Given the description of an element on the screen output the (x, y) to click on. 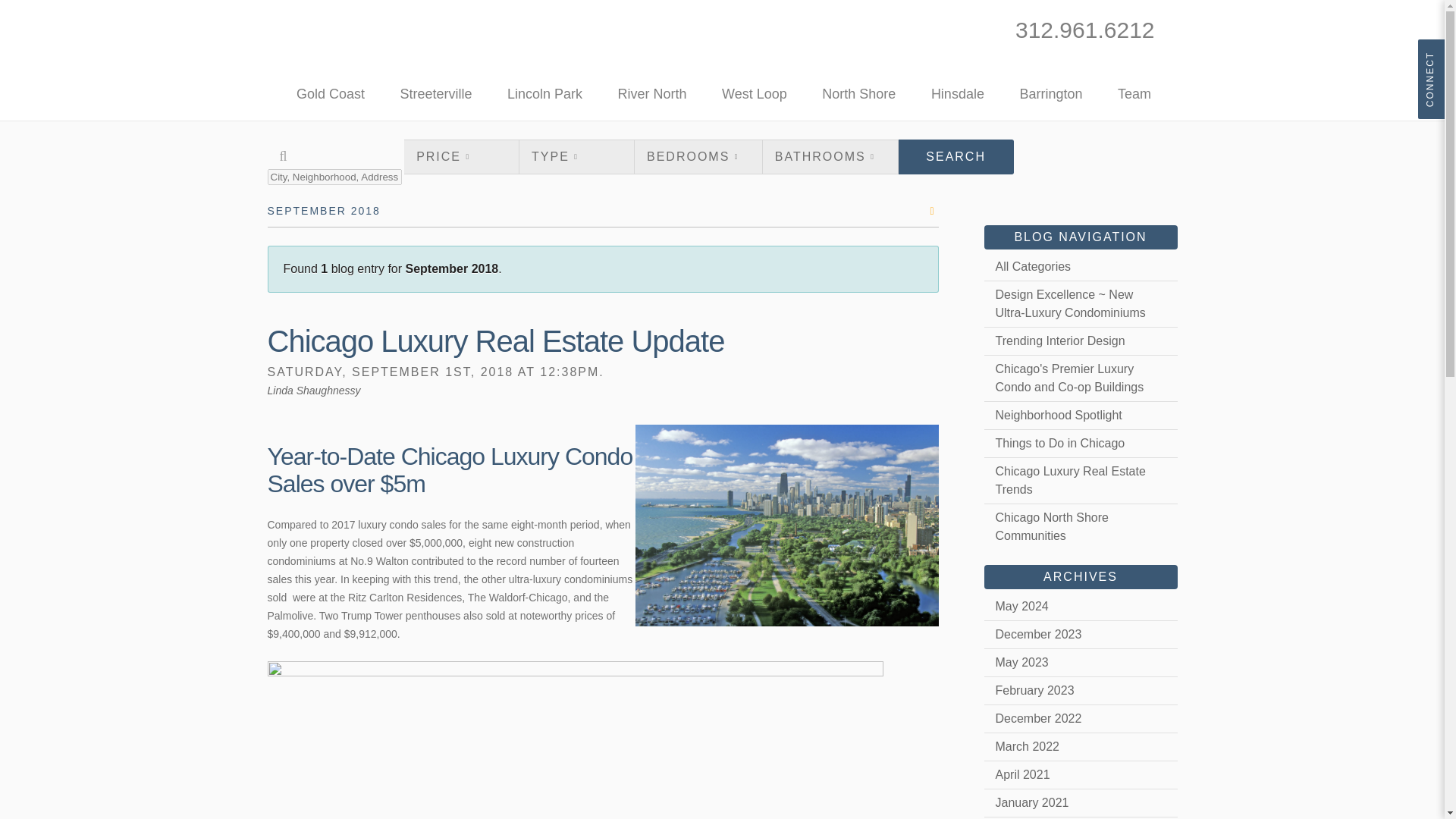
Streeterville (435, 93)
All Categories (1080, 266)
March 2022 (1080, 746)
312.961.6212 (1084, 29)
North Shore (858, 93)
Things to Do in Chicago (1080, 443)
Gold Coast (331, 93)
Chicago's Premier Luxury Condo and Co-op Buildings (1080, 378)
Trending Interior Design (1080, 340)
Neighborhood Spotlight (1080, 415)
